Given the description of an element on the screen output the (x, y) to click on. 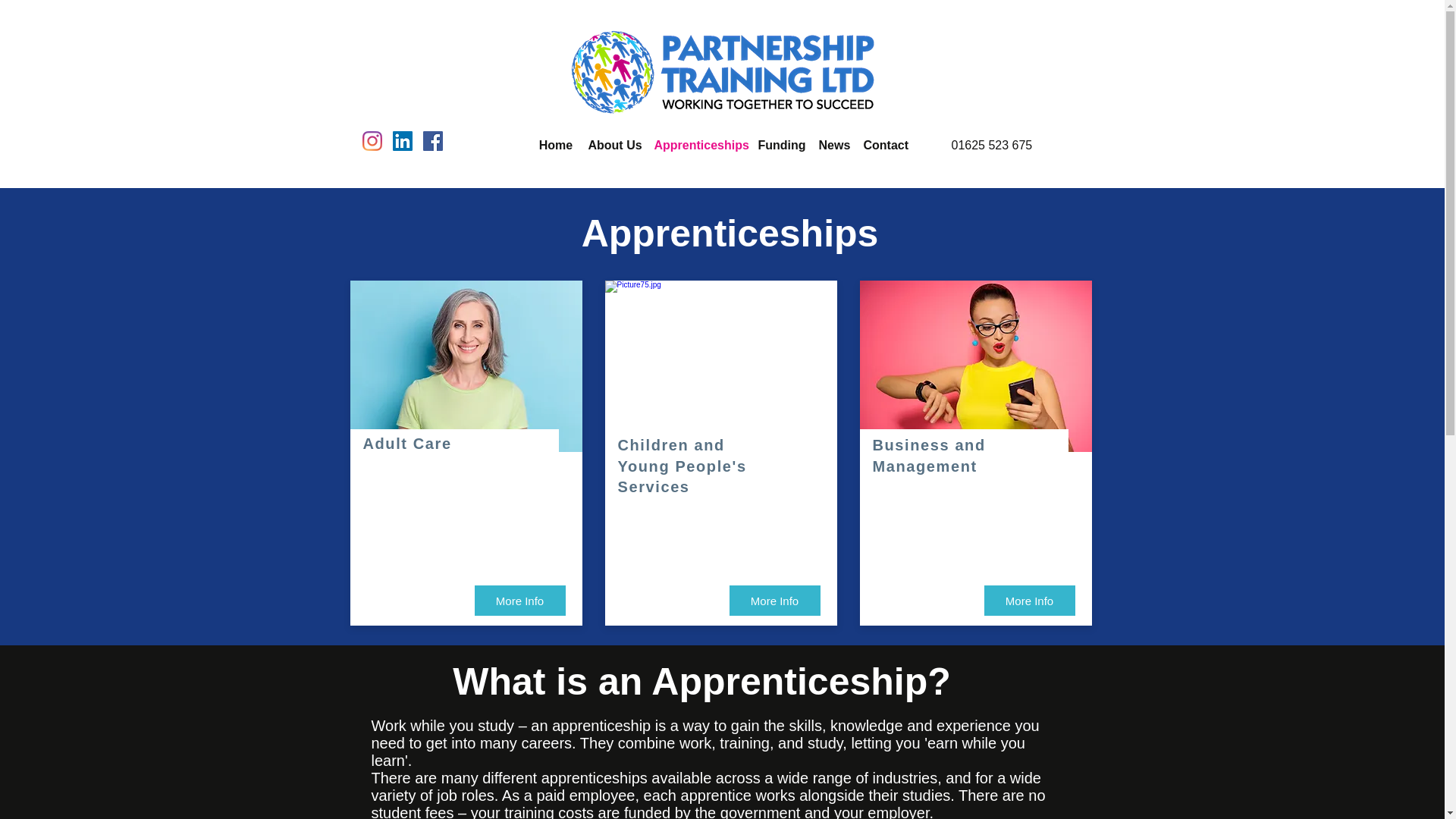
Home (555, 145)
News (833, 145)
Contact (884, 145)
More Info (775, 600)
Apprenticeships (697, 145)
About Us (612, 145)
More Info (520, 600)
Funding (779, 145)
More Info (1029, 600)
